Given the description of an element on the screen output the (x, y) to click on. 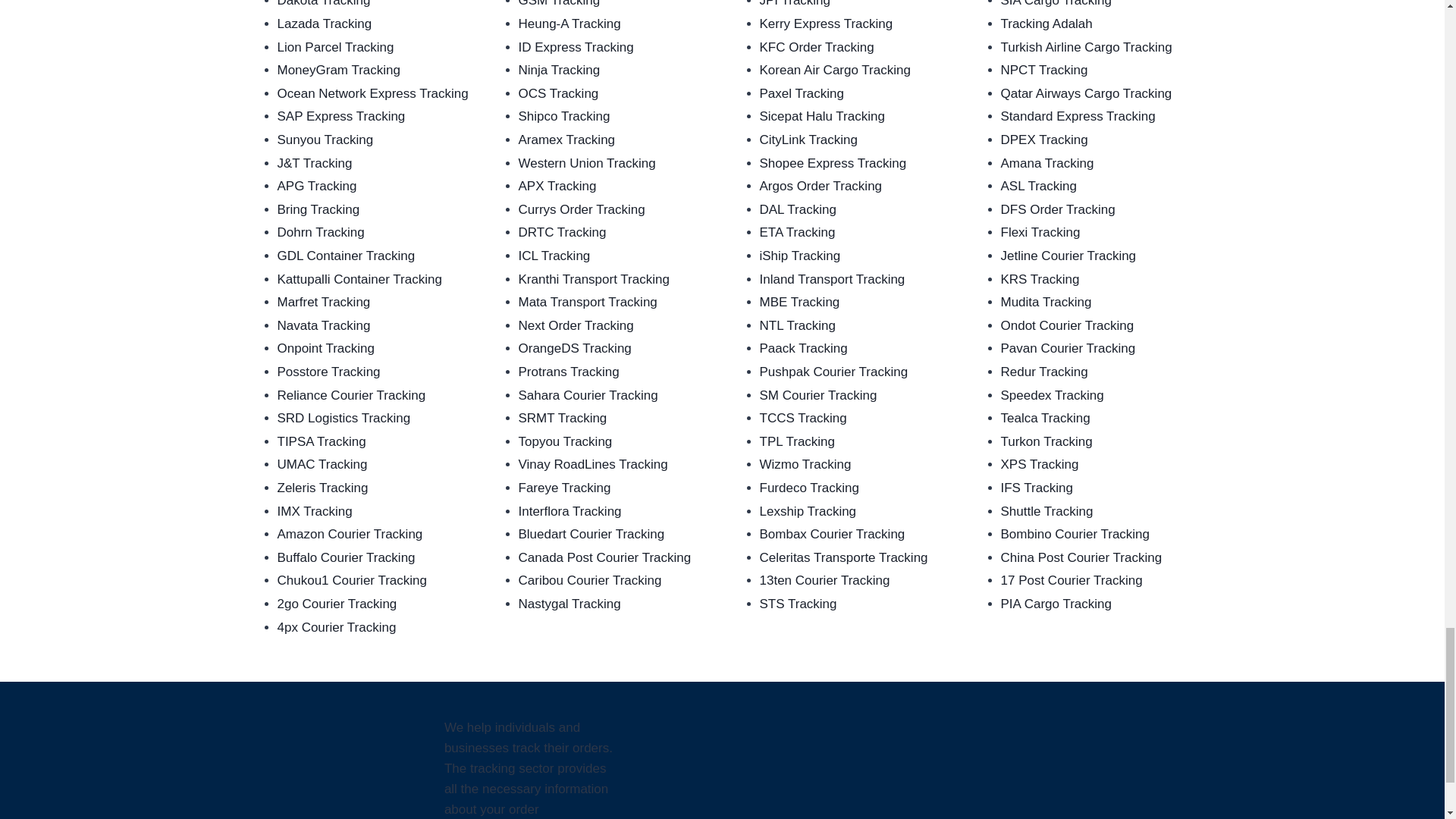
Lazada Tracking (325, 23)
MoneyGram Tracking (339, 69)
Dakota Tracking (324, 3)
Lion Parcel Tracking (336, 47)
